Given the description of an element on the screen output the (x, y) to click on. 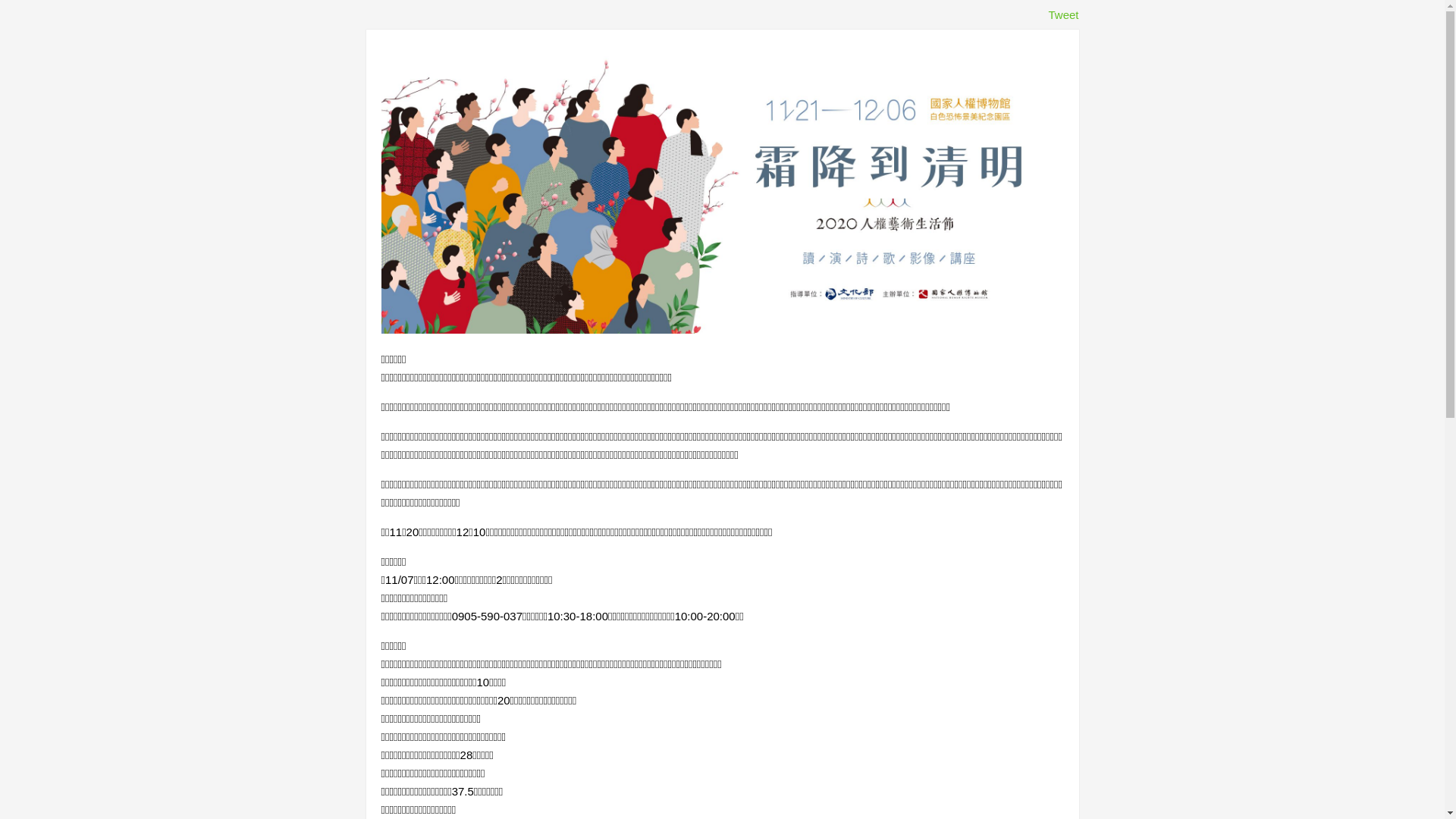
Tweet Element type: text (1063, 14)
